Given the description of an element on the screen output the (x, y) to click on. 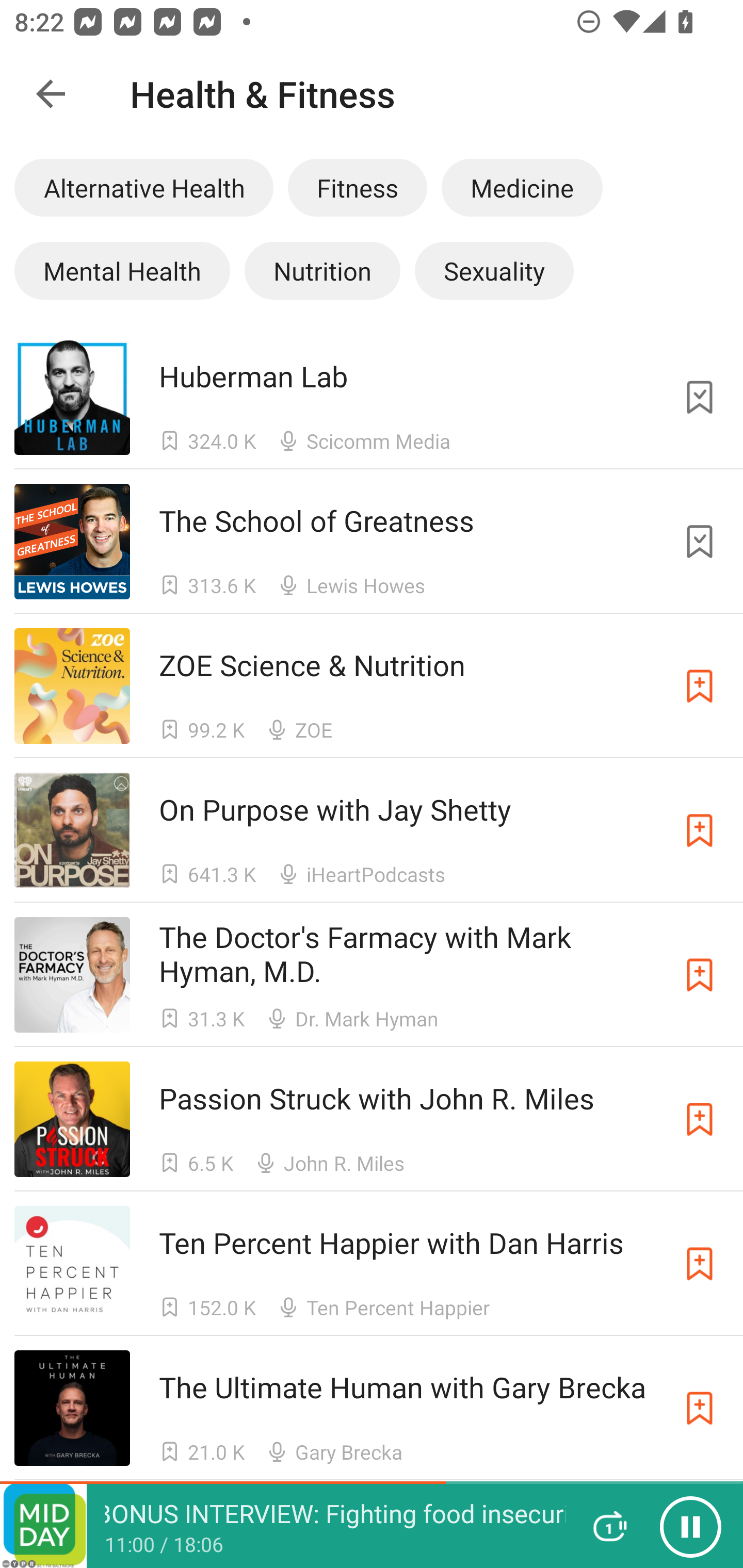
Navigate up (50, 93)
Alternative Health (143, 187)
Fitness (357, 187)
Medicine (521, 187)
Mental Health (122, 270)
Nutrition (322, 270)
Sexuality (493, 270)
Unsubscribe (699, 396)
Unsubscribe (699, 541)
Subscribe (699, 685)
Subscribe (699, 830)
Subscribe (699, 975)
Subscribe (699, 1119)
Subscribe (699, 1263)
Subscribe (699, 1408)
Pause (690, 1526)
